Given the description of an element on the screen output the (x, y) to click on. 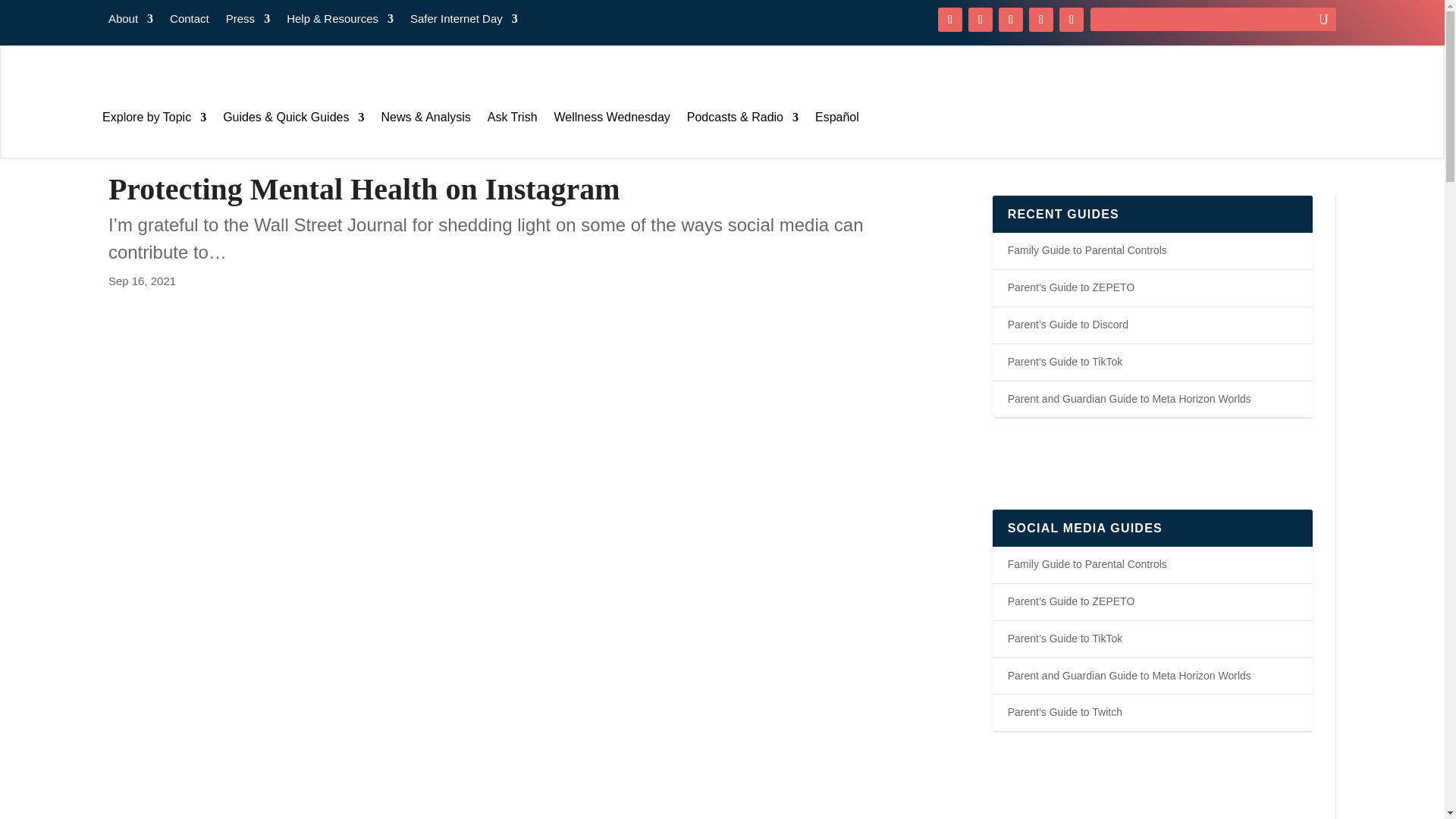
Safer Internet Day (464, 21)
Contact (189, 21)
Follow on Youtube (1040, 19)
About (129, 21)
Follow on Facebook (949, 19)
Follow on X (980, 19)
Follow on LinkedIn (1071, 19)
Follow on Instagram (1010, 19)
Search (24, 13)
